Given the description of an element on the screen output the (x, y) to click on. 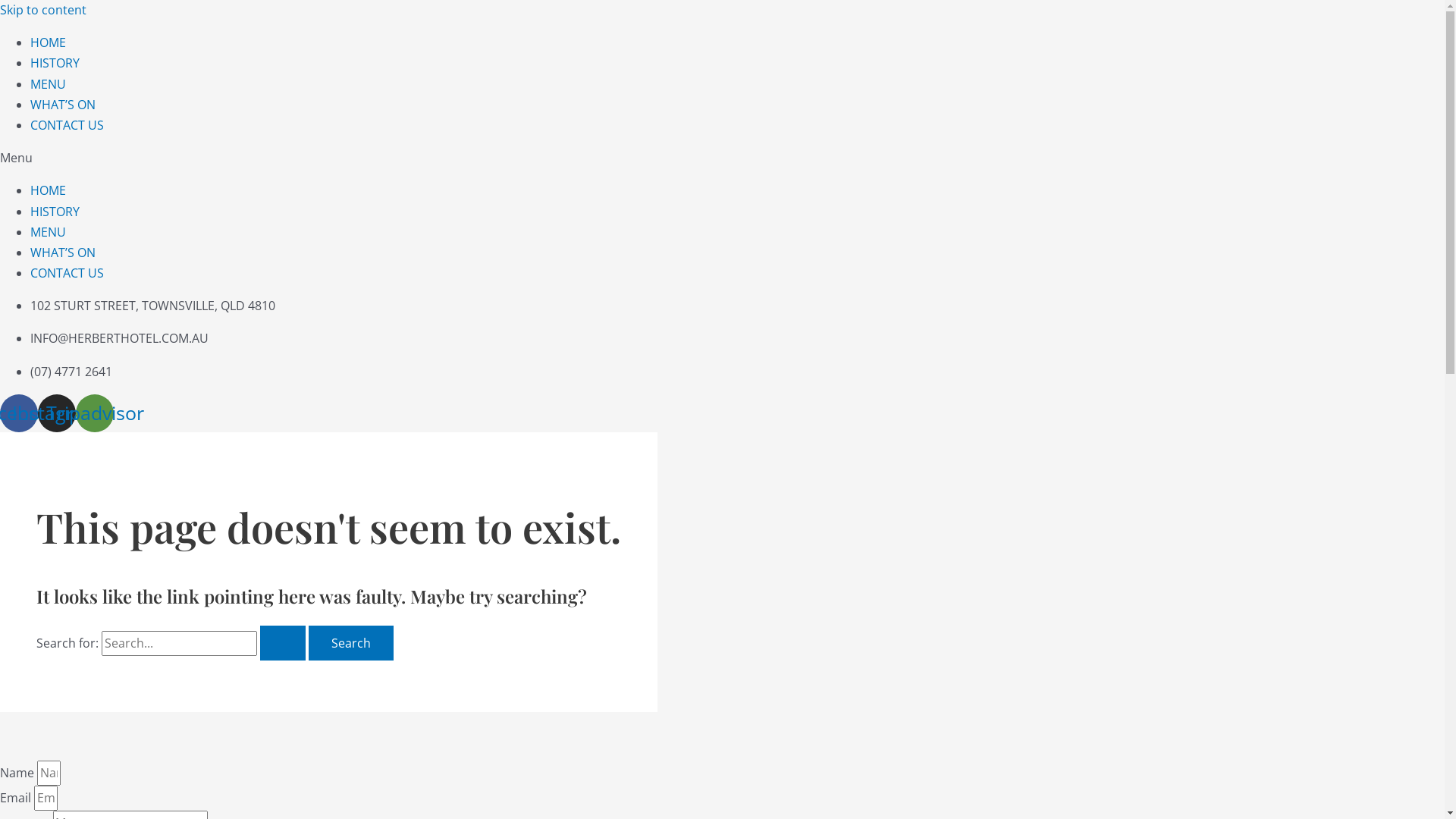
MENU Element type: text (47, 83)
HOME Element type: text (47, 190)
Facebook Element type: text (18, 413)
Skip to content Element type: text (43, 9)
MENU Element type: text (47, 231)
CONTACT US Element type: text (66, 124)
HISTORY Element type: text (54, 62)
CONTACT US Element type: text (66, 272)
HISTORY Element type: text (54, 211)
Search Element type: text (350, 642)
Instagram Element type: text (56, 413)
HOME Element type: text (47, 42)
Tripadvisor Element type: text (94, 413)
